Given the description of an element on the screen output the (x, y) to click on. 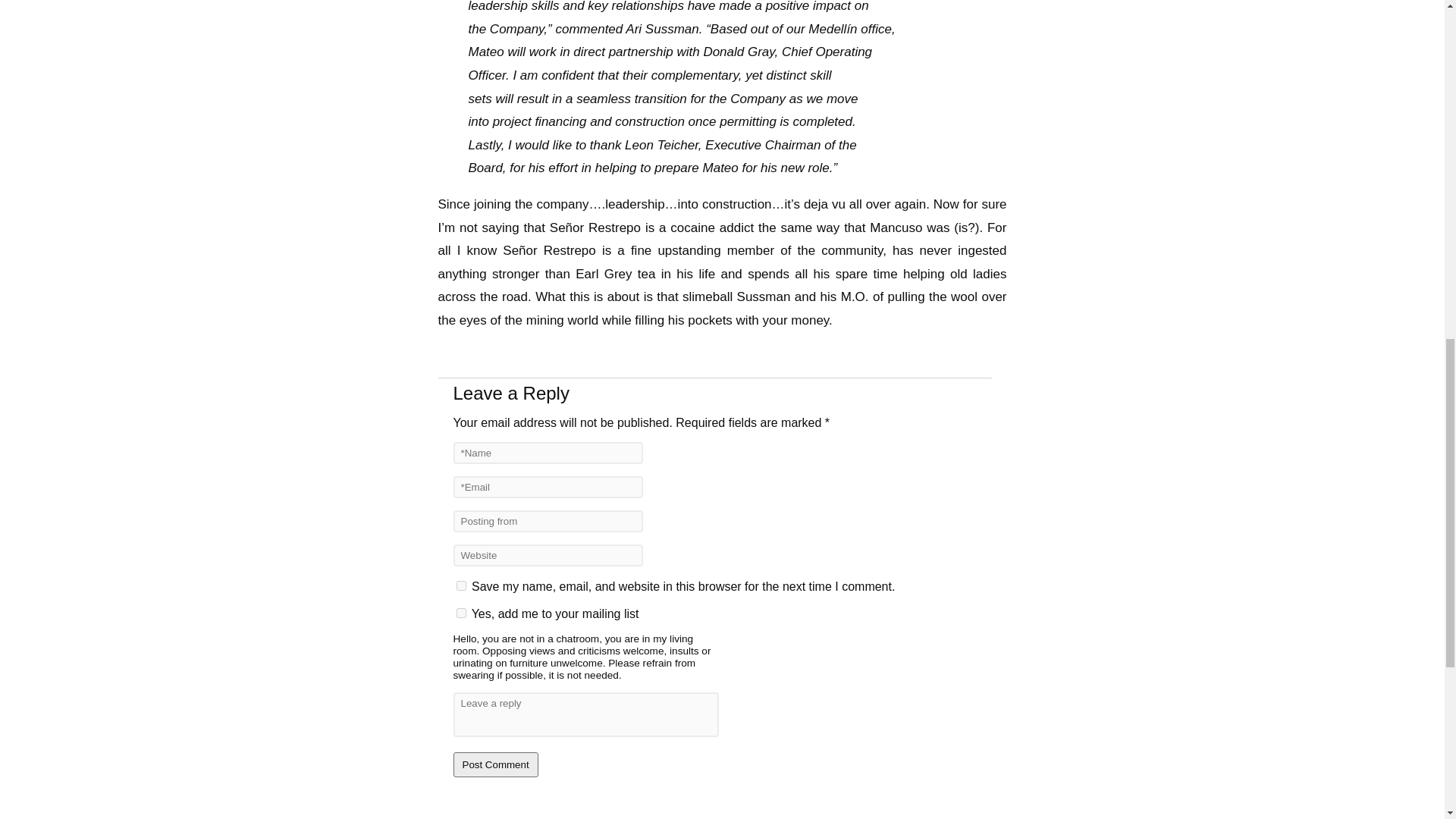
Post Comment (495, 764)
Post Comment (495, 764)
1 (461, 613)
yes (461, 585)
